Given the description of an element on the screen output the (x, y) to click on. 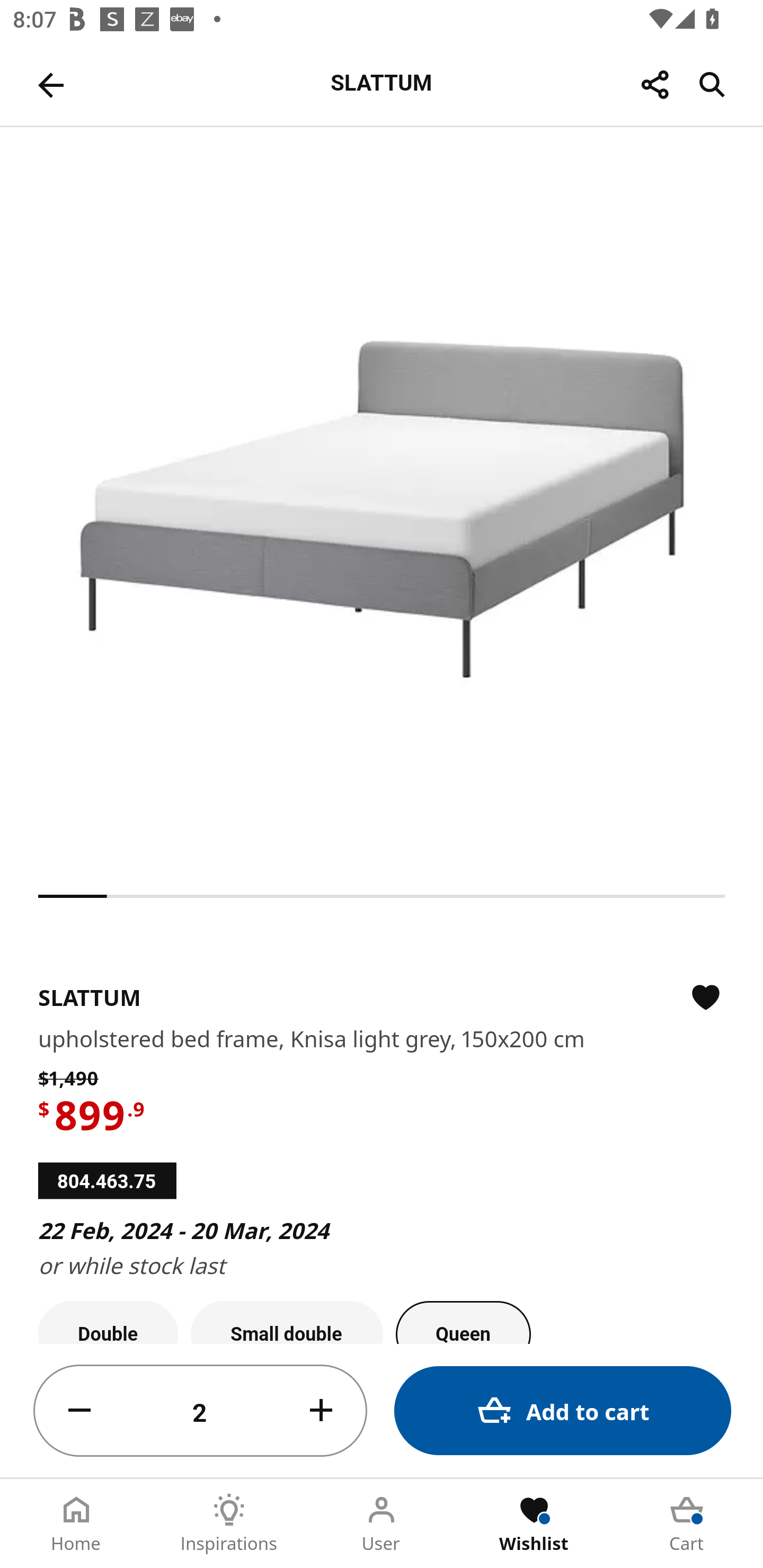
Double (107, 1322)
Small double (286, 1322)
Queen (463, 1322)
Add to cart (562, 1410)
2 (200, 1411)
Home
Tab 1 of 5 (76, 1522)
Inspirations
Tab 2 of 5 (228, 1522)
User
Tab 3 of 5 (381, 1522)
Wishlist
Tab 4 of 5 (533, 1522)
Cart
Tab 5 of 5 (686, 1522)
